Given the description of an element on the screen output the (x, y) to click on. 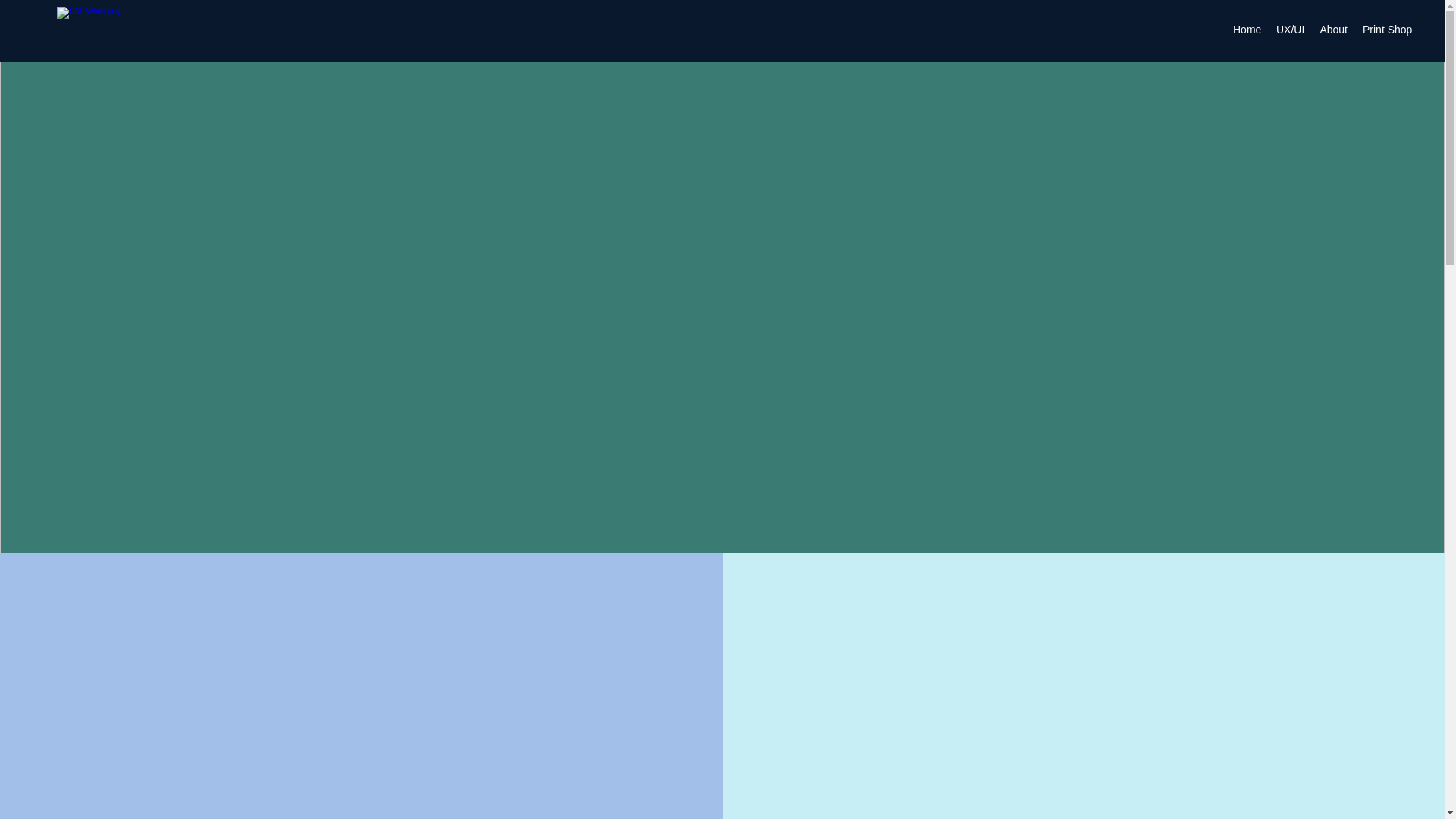
Home (1246, 29)
Print Shop (1387, 29)
About (1333, 29)
